Given the description of an element on the screen output the (x, y) to click on. 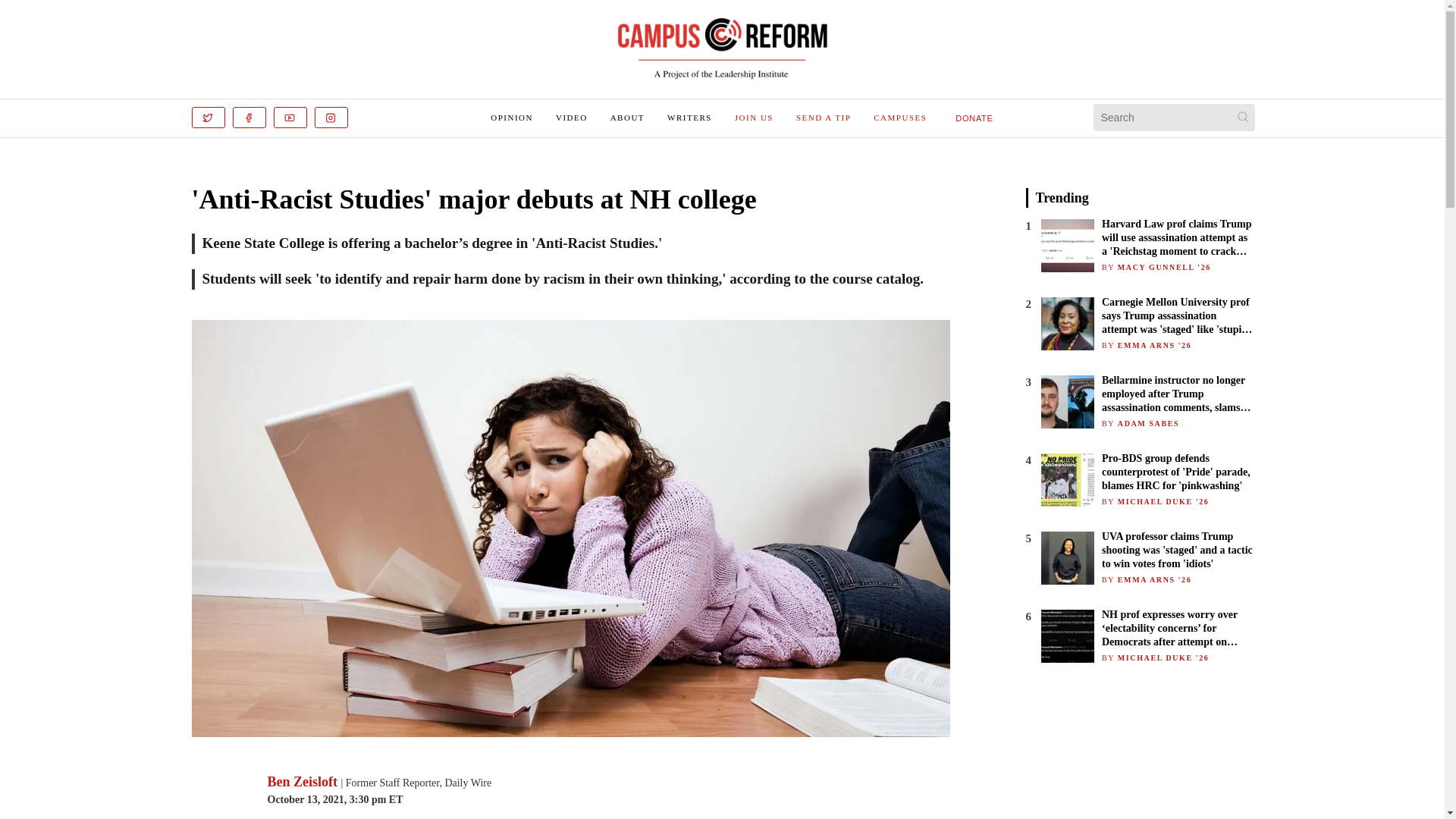
JOIN US (754, 117)
SEND A TIP (823, 117)
CAMPUSES (899, 117)
DONATE (974, 117)
DONATE (974, 117)
OPINION (511, 117)
WRITERS (688, 117)
ABOUT (627, 117)
VIDEO (572, 117)
